Given the description of an element on the screen output the (x, y) to click on. 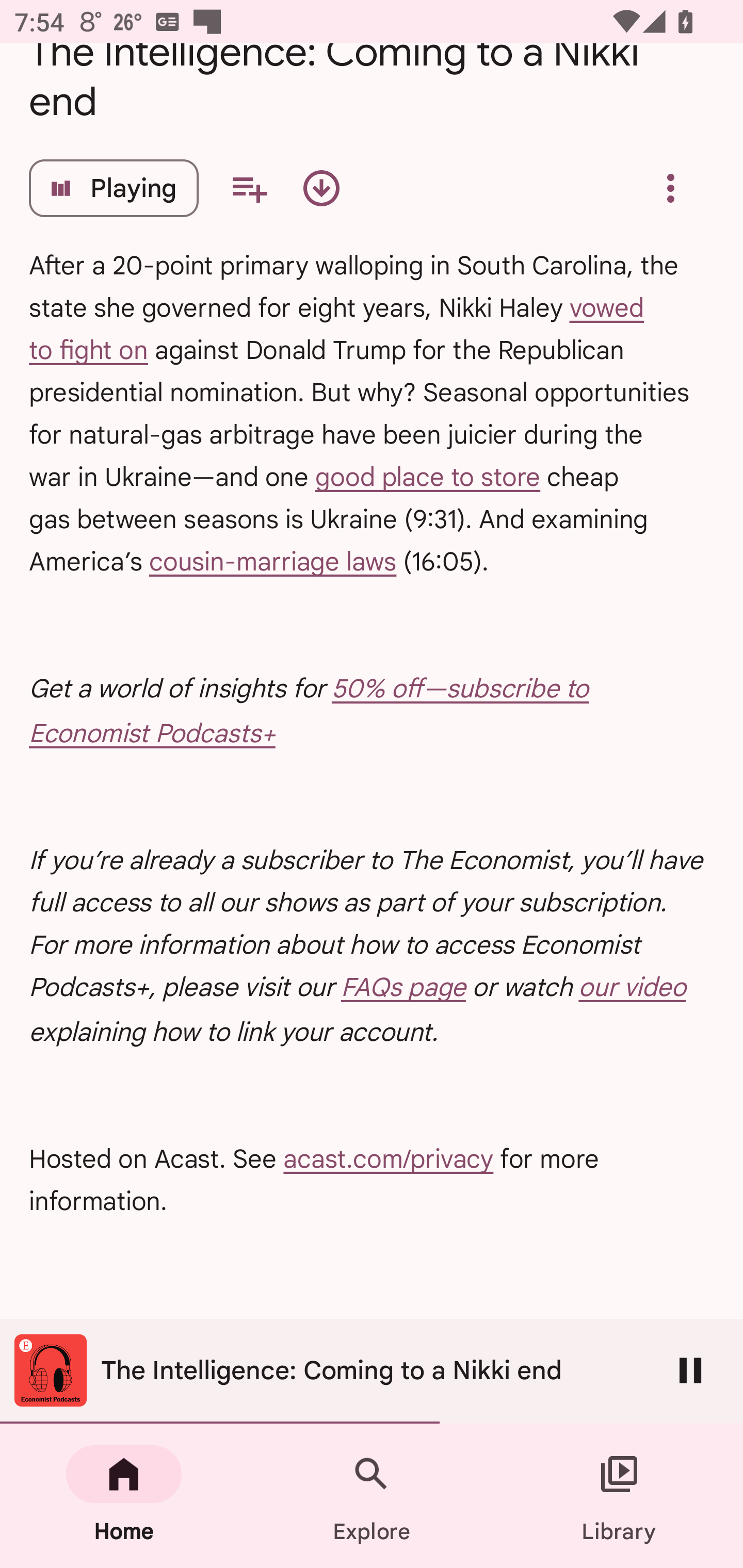
Add to your queue (249, 188)
Download episode (321, 188)
Overflow menu (670, 188)
Pause (690, 1370)
Explore (371, 1495)
Library (619, 1495)
